Given the description of an element on the screen output the (x, y) to click on. 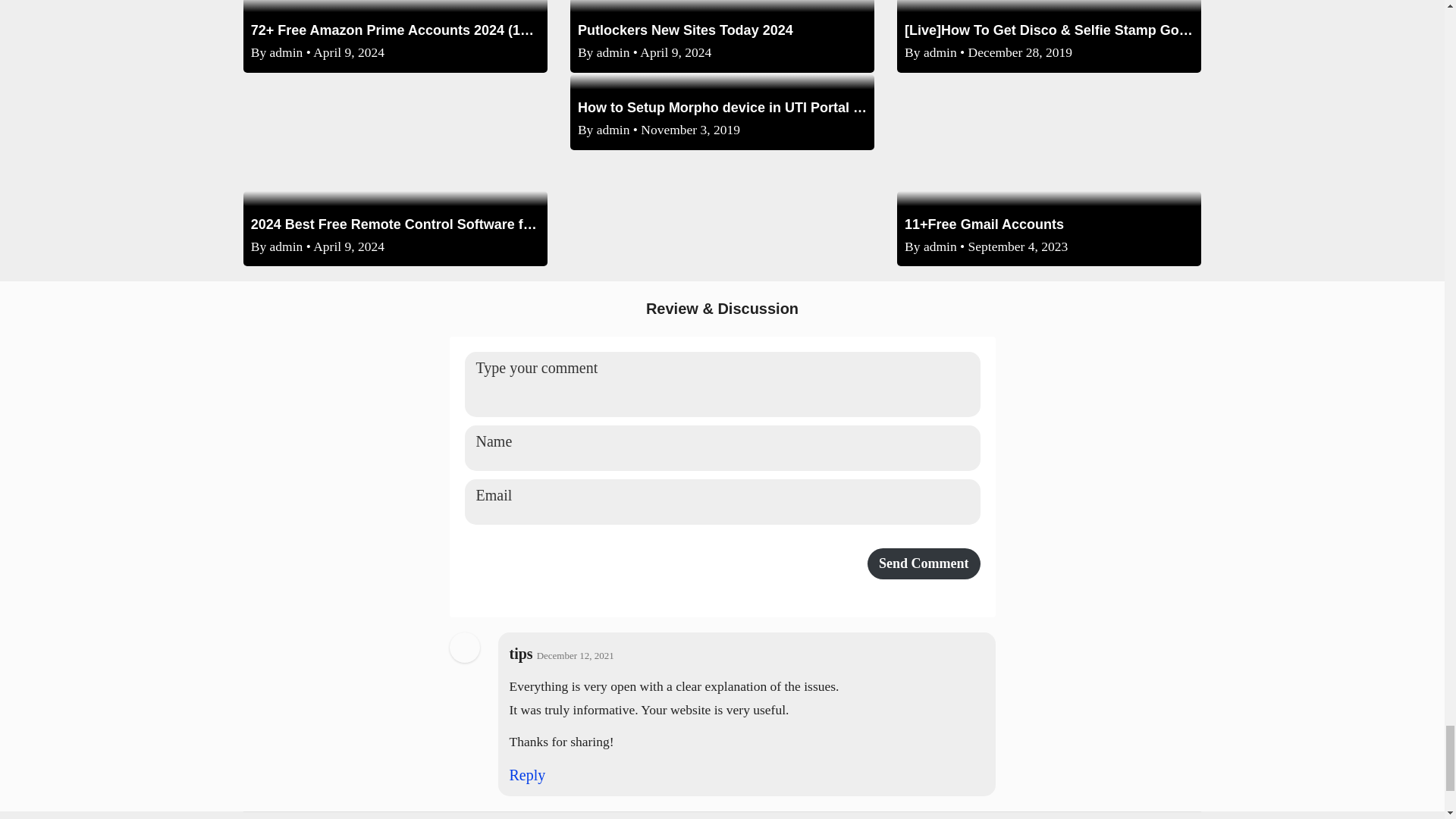
Reply (527, 774)
Send Comment (923, 563)
Send Comment (923, 563)
